Given the description of an element on the screen output the (x, y) to click on. 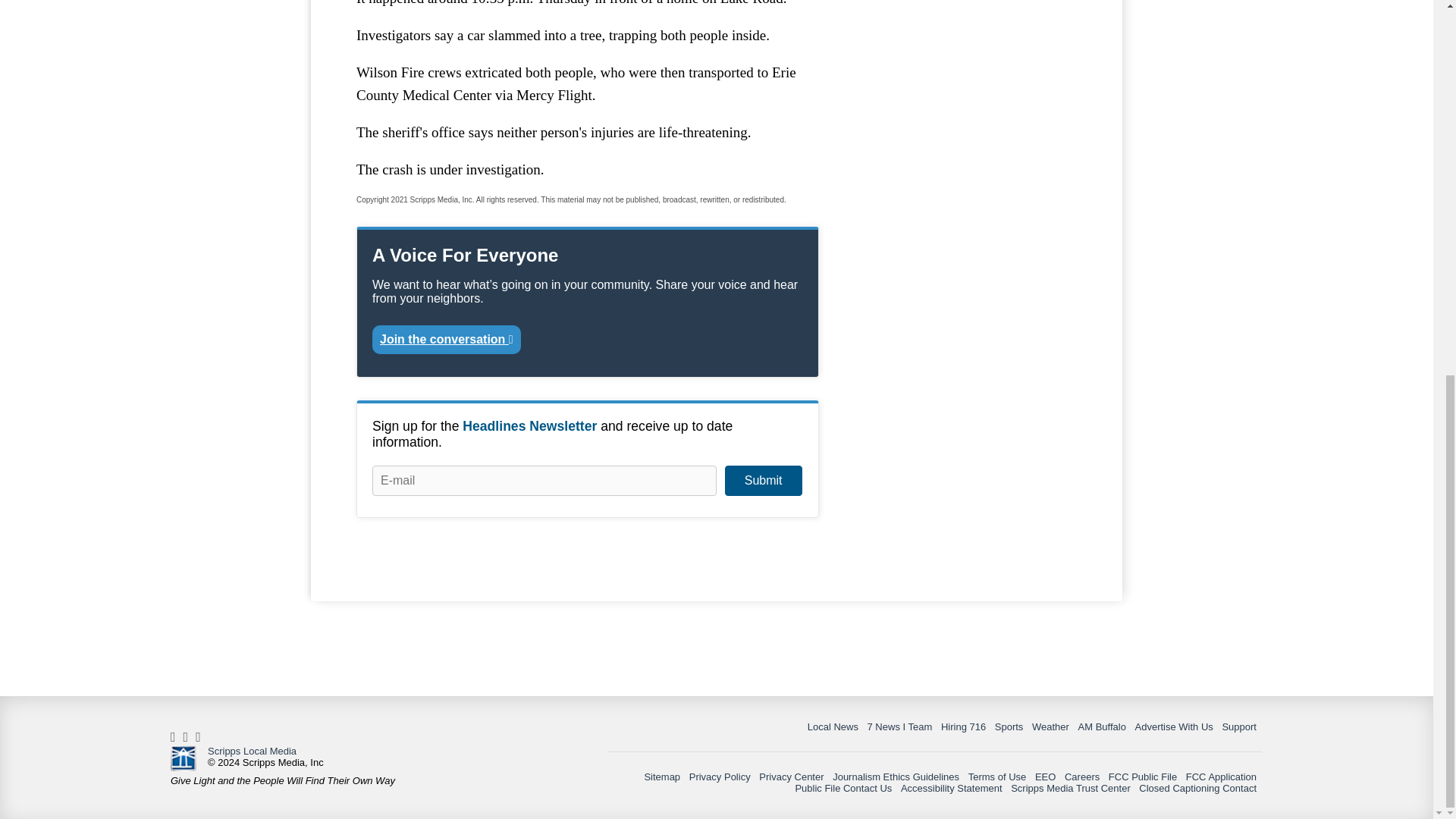
Submit (763, 481)
